Given the description of an element on the screen output the (x, y) to click on. 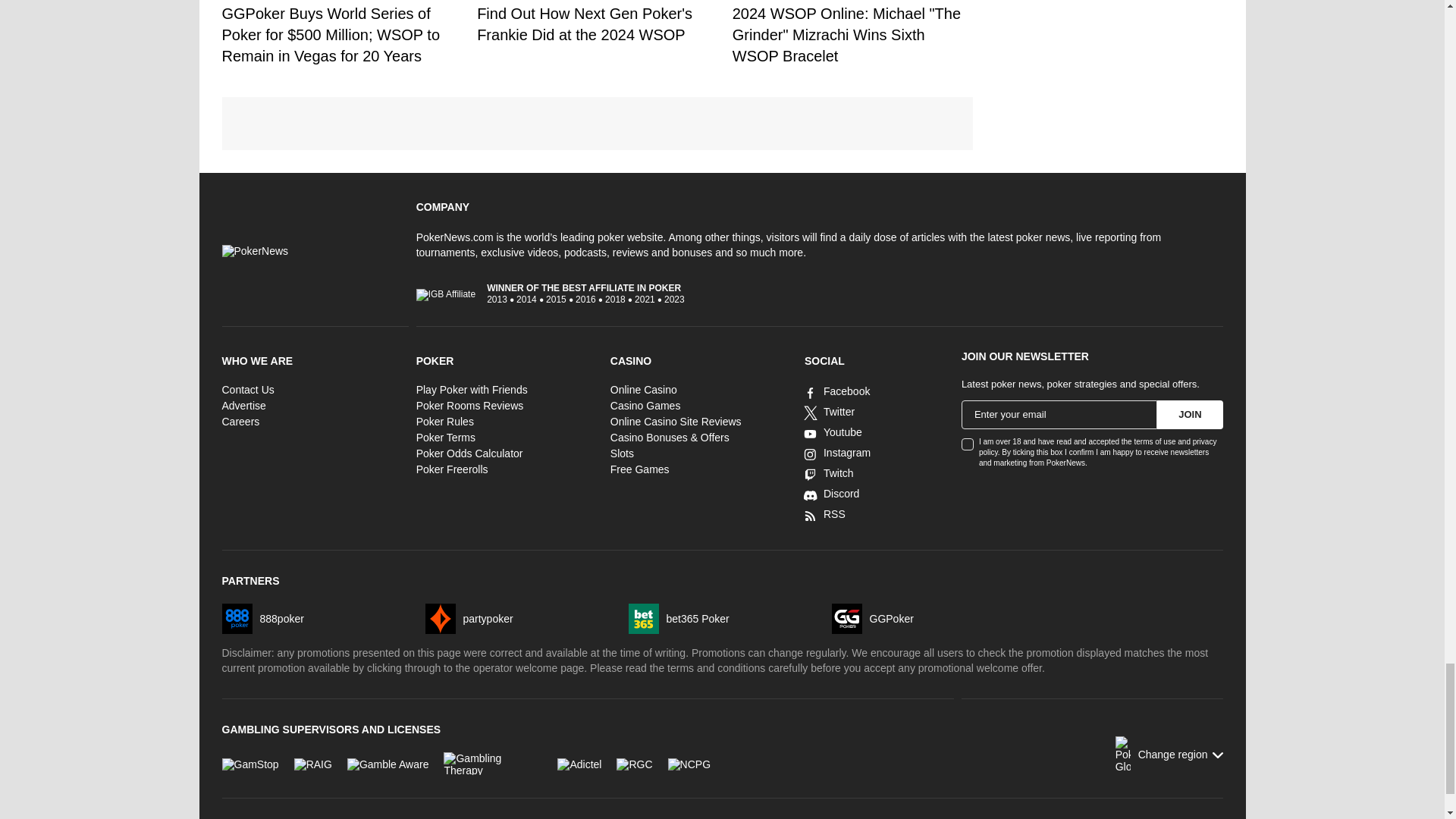
National Council on Problem Gambling (689, 762)
Responsible Gambling Council (633, 762)
GamStop (249, 762)
GambleAware (388, 762)
Raig (312, 762)
Adictel (579, 762)
Gambling Therapy (492, 763)
on (967, 444)
